Given the description of an element on the screen output the (x, y) to click on. 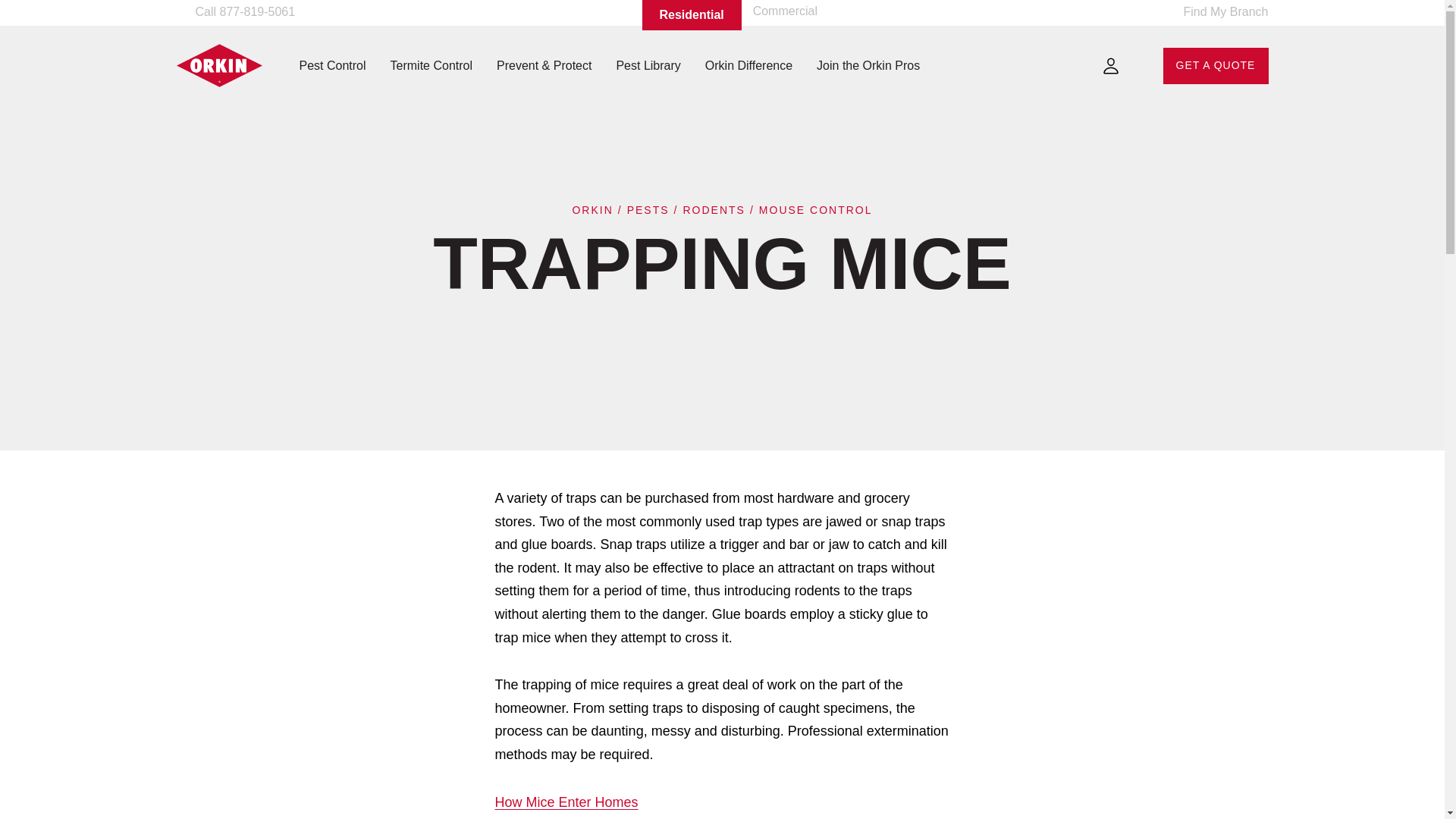
Orkin Difference (748, 65)
Commercial (784, 10)
RODENTS (713, 209)
Find My Branch (1215, 15)
Call 877-819-5061 (241, 12)
Termite Control (430, 65)
MOUSE CONTROL (815, 209)
How Mice Enter Homes (566, 803)
GET A QUOTE (1215, 64)
PESTS (648, 209)
